Given the description of an element on the screen output the (x, y) to click on. 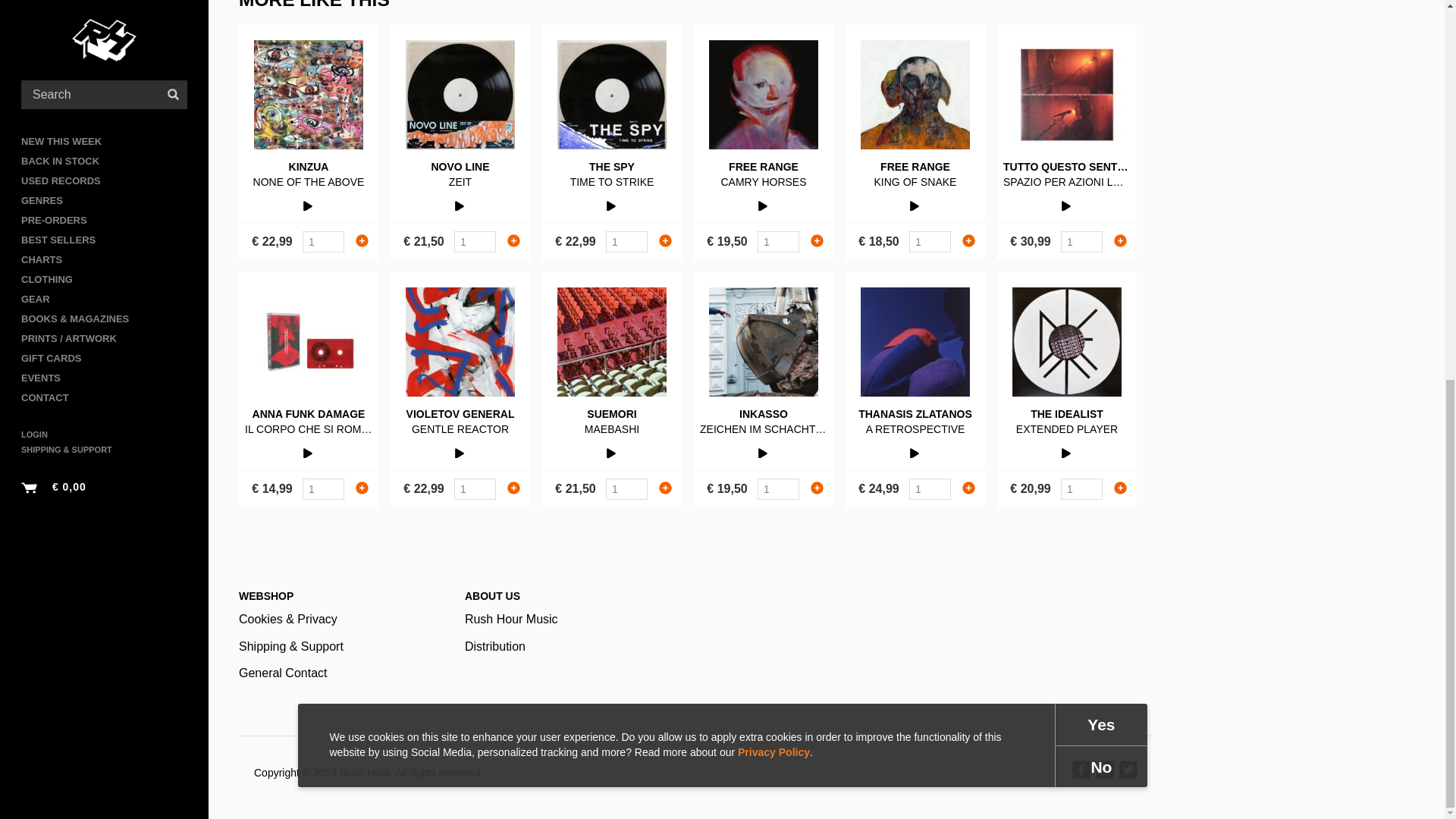
1 (929, 241)
1 (475, 488)
1 (626, 241)
1 (475, 241)
1 (322, 241)
1 (322, 488)
1 (1081, 488)
1 (778, 488)
PLAY (307, 204)
1 (929, 488)
